Given the description of an element on the screen output the (x, y) to click on. 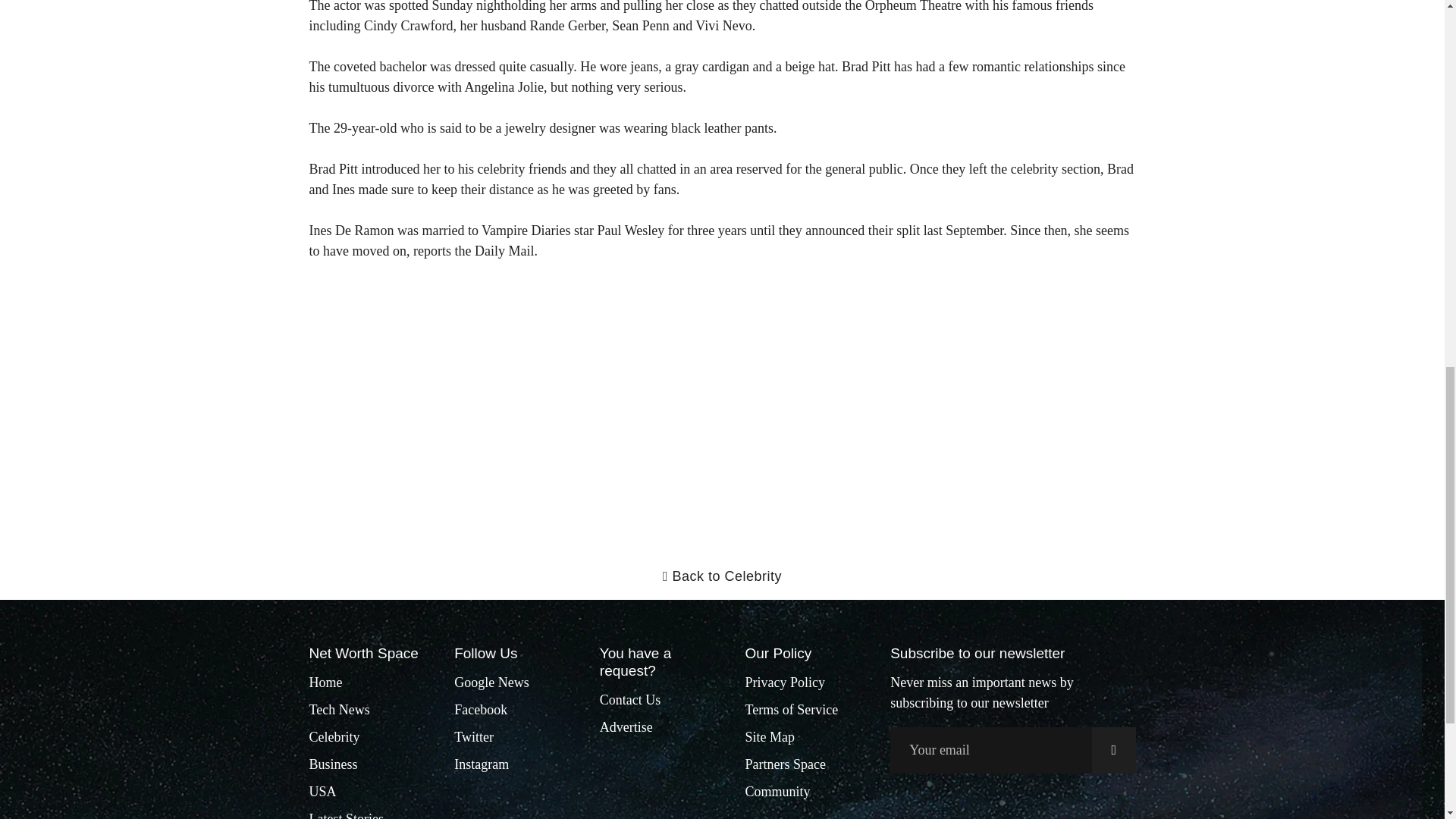
Business (333, 764)
Celebrity (333, 737)
Tech News (338, 710)
Home (325, 682)
Facebook (480, 710)
USA (322, 792)
Latest Stories (346, 814)
Google News (491, 682)
